Given the description of an element on the screen output the (x, y) to click on. 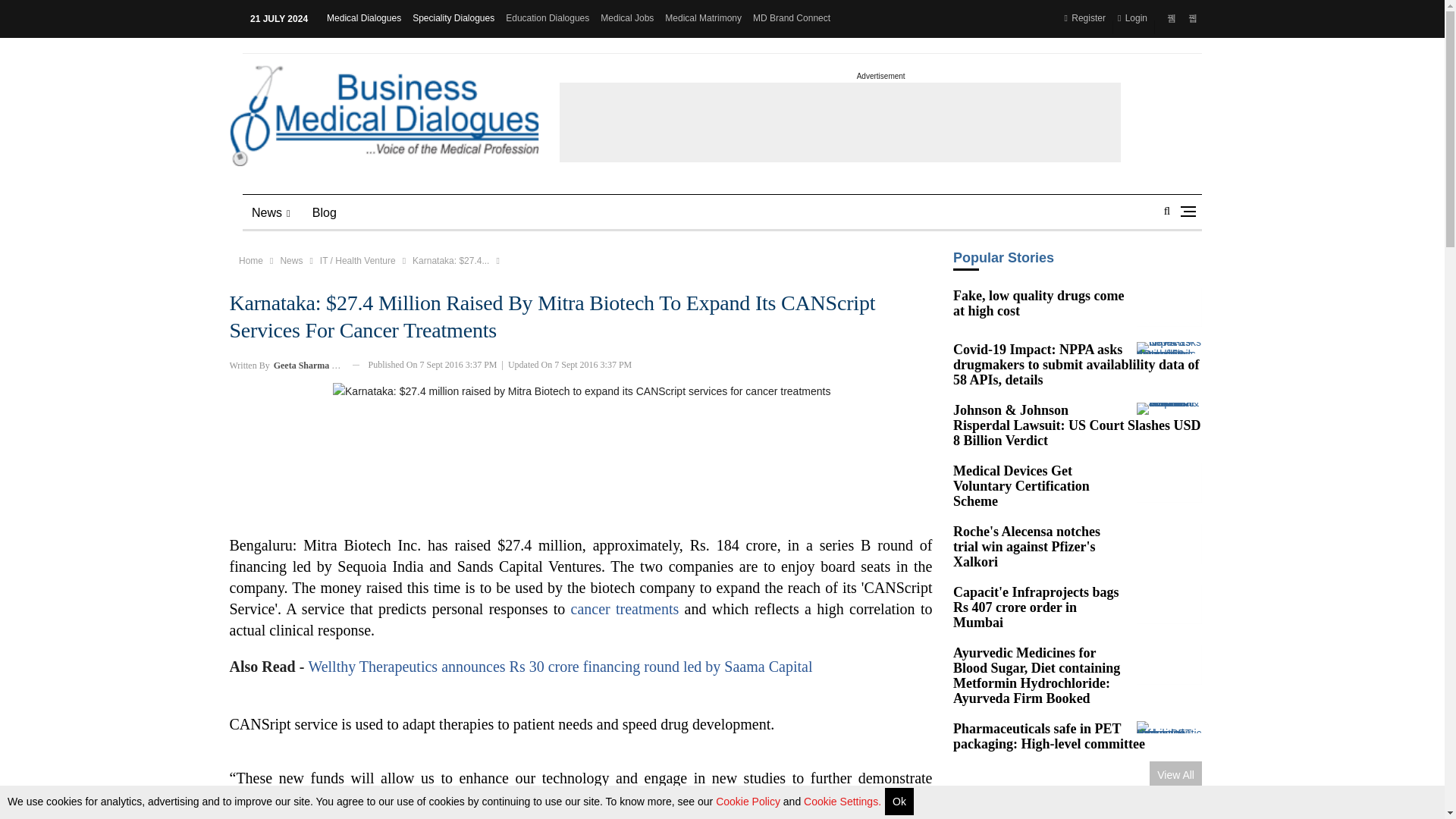
Speciality Dialogues (453, 18)
News (271, 212)
Medical Dialogues (363, 18)
Medical Matrimony (703, 18)
Education Dialogues (547, 18)
Business Medical Dialogues (384, 116)
MD Brand Connect (790, 18)
Blog (324, 212)
Medical Jobs (626, 18)
